Given the description of an element on the screen output the (x, y) to click on. 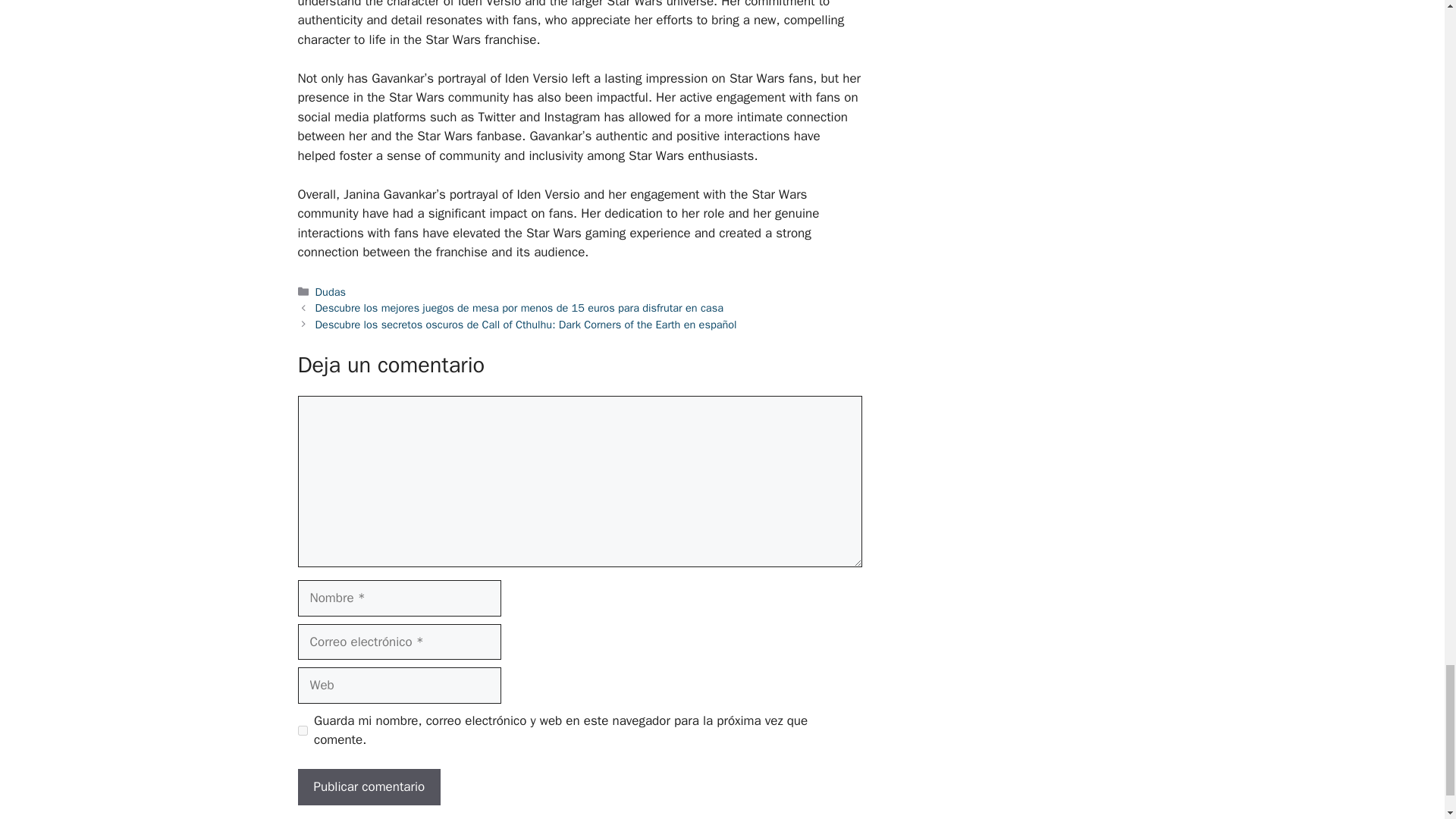
yes (302, 730)
Publicar comentario (369, 787)
Publicar comentario (369, 787)
Dudas (330, 291)
